Given the description of an element on the screen output the (x, y) to click on. 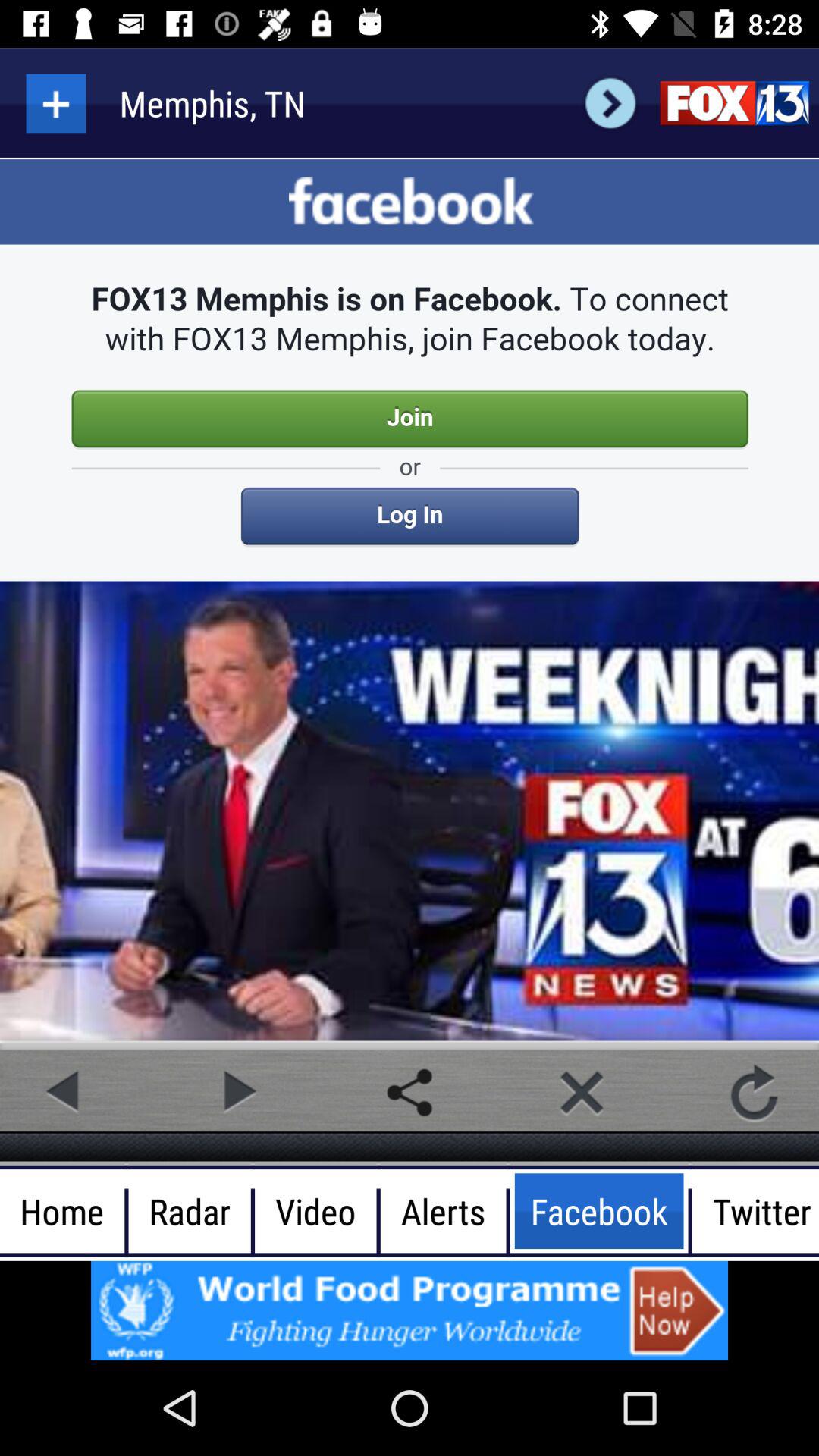
going back to the previous page (64, 1092)
